Given the description of an element on the screen output the (x, y) to click on. 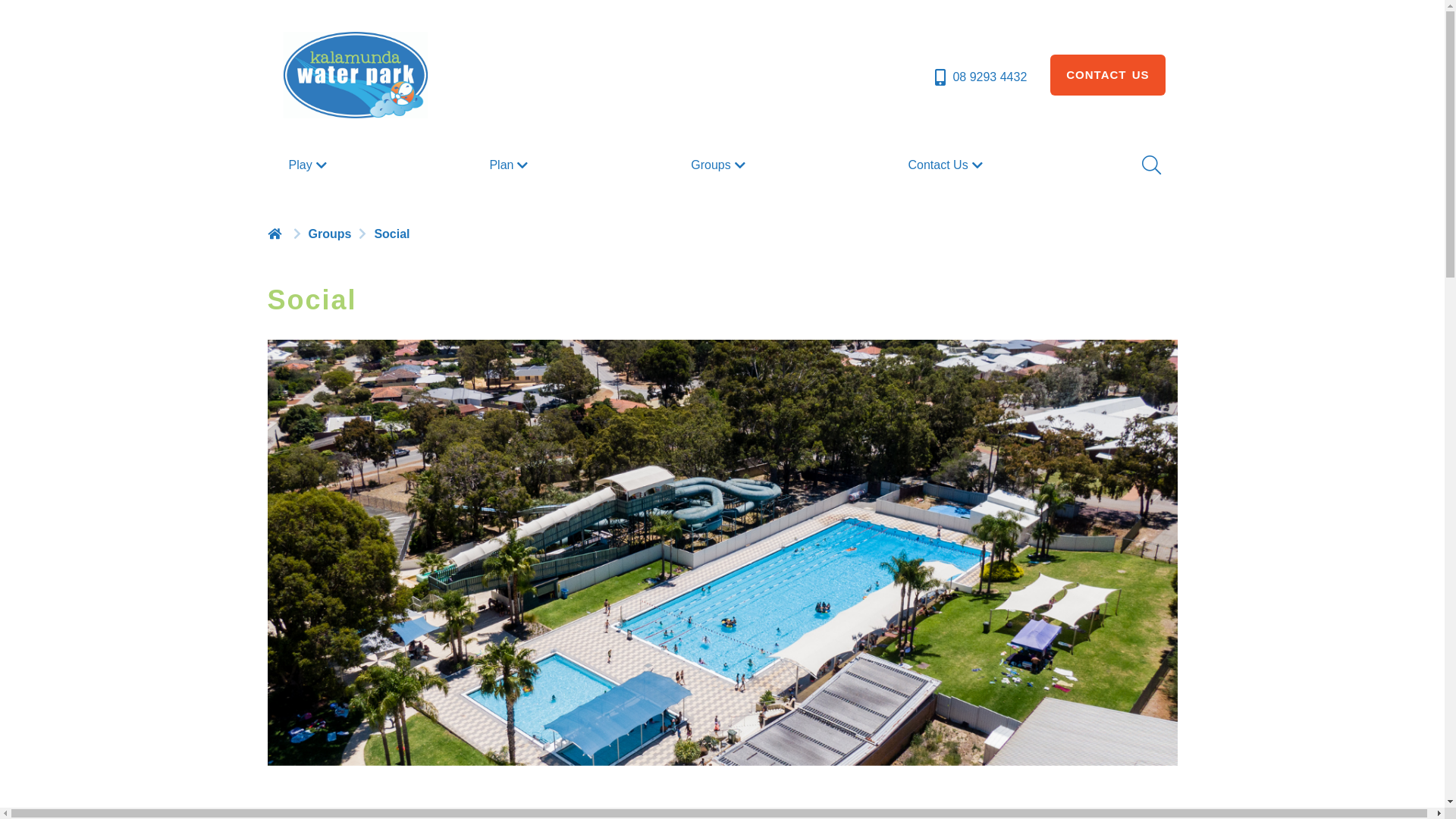
Plan Element type: text (510, 165)
Groups Element type: text (719, 165)
Play Element type: text (308, 165)
08 9293 4432 Element type: text (978, 77)
Contact Us Element type: text (947, 165)
  Element type: text (275, 233)
CONTACT US Element type: text (1107, 74)
Search Element type: text (1150, 165)
